Given the description of an element on the screen output the (x, y) to click on. 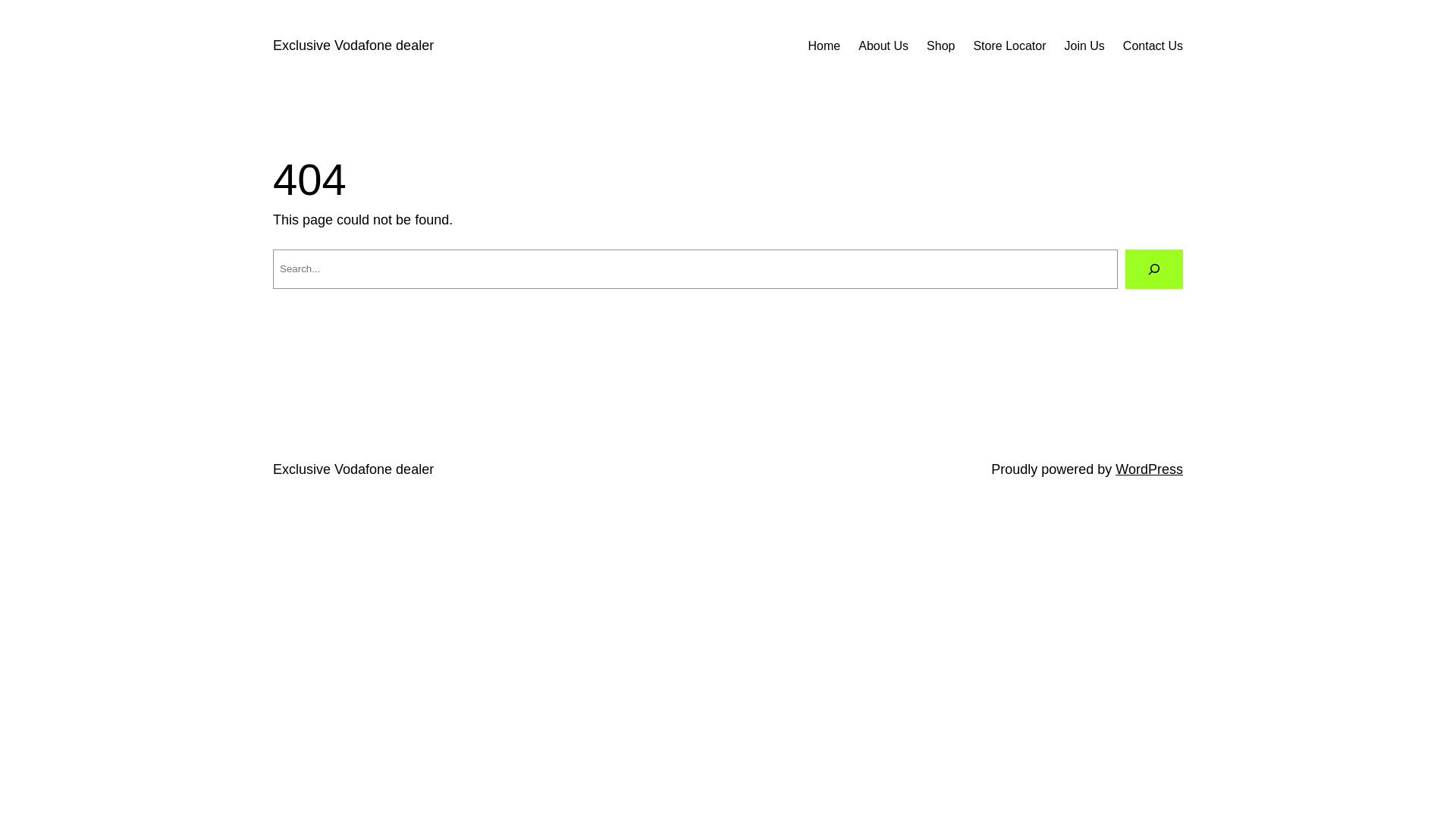
About Us Element type: text (883, 46)
Contact Us Element type: text (1153, 46)
Join Us Element type: text (1084, 46)
Home Element type: text (824, 46)
WordPress Element type: text (1149, 468)
Store Locator Element type: text (1008, 46)
Exclusive Vodafone dealer Element type: text (353, 468)
Exclusive Vodafone dealer Element type: text (353, 45)
Shop Element type: text (940, 46)
